Given the description of an element on the screen output the (x, y) to click on. 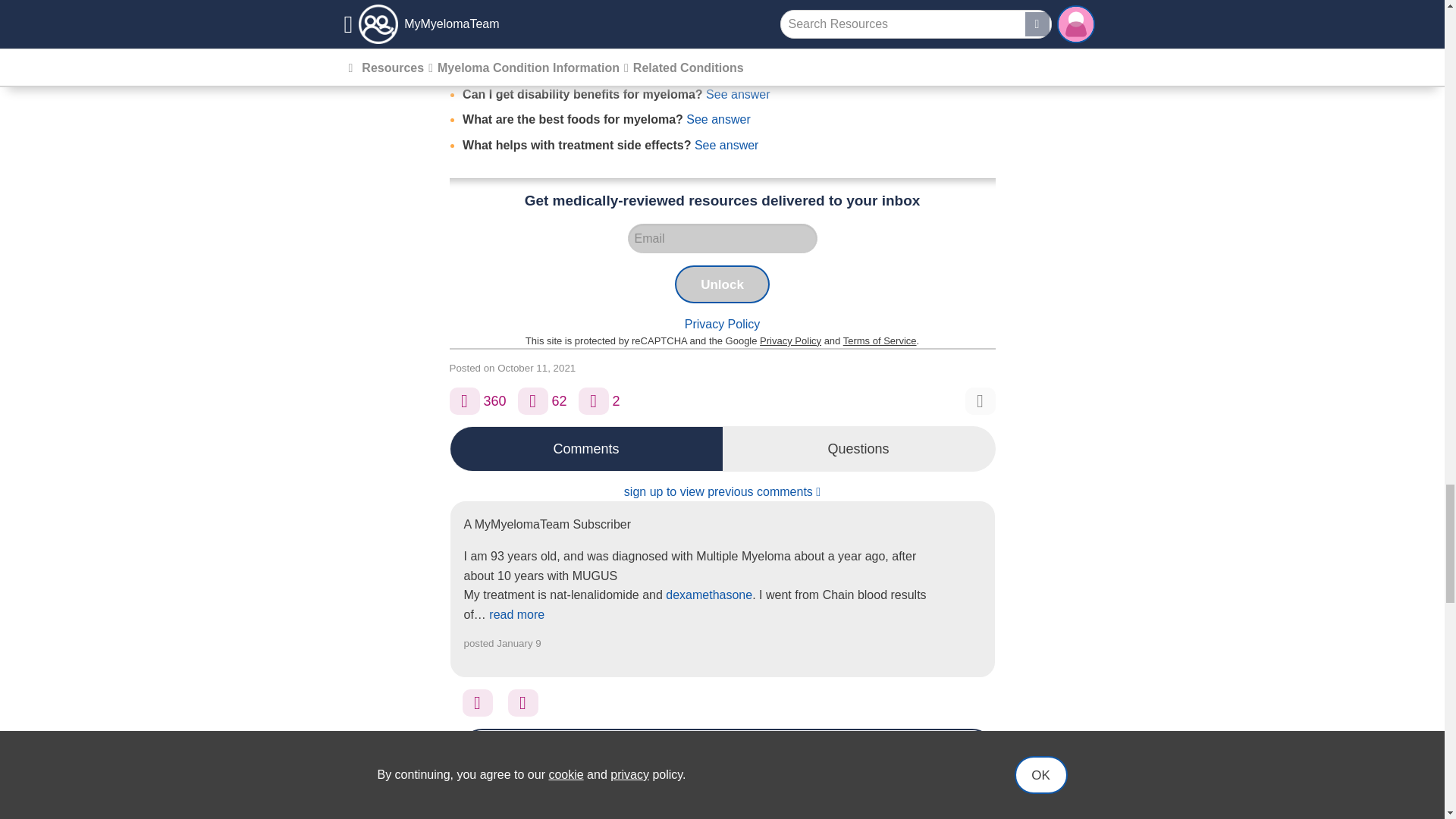
Unlock (722, 284)
I like this (463, 400)
I like this (523, 702)
Send a hug (478, 702)
Add a comment (533, 400)
Ask a question (593, 400)
submit (954, 809)
